Given the description of an element on the screen output the (x, y) to click on. 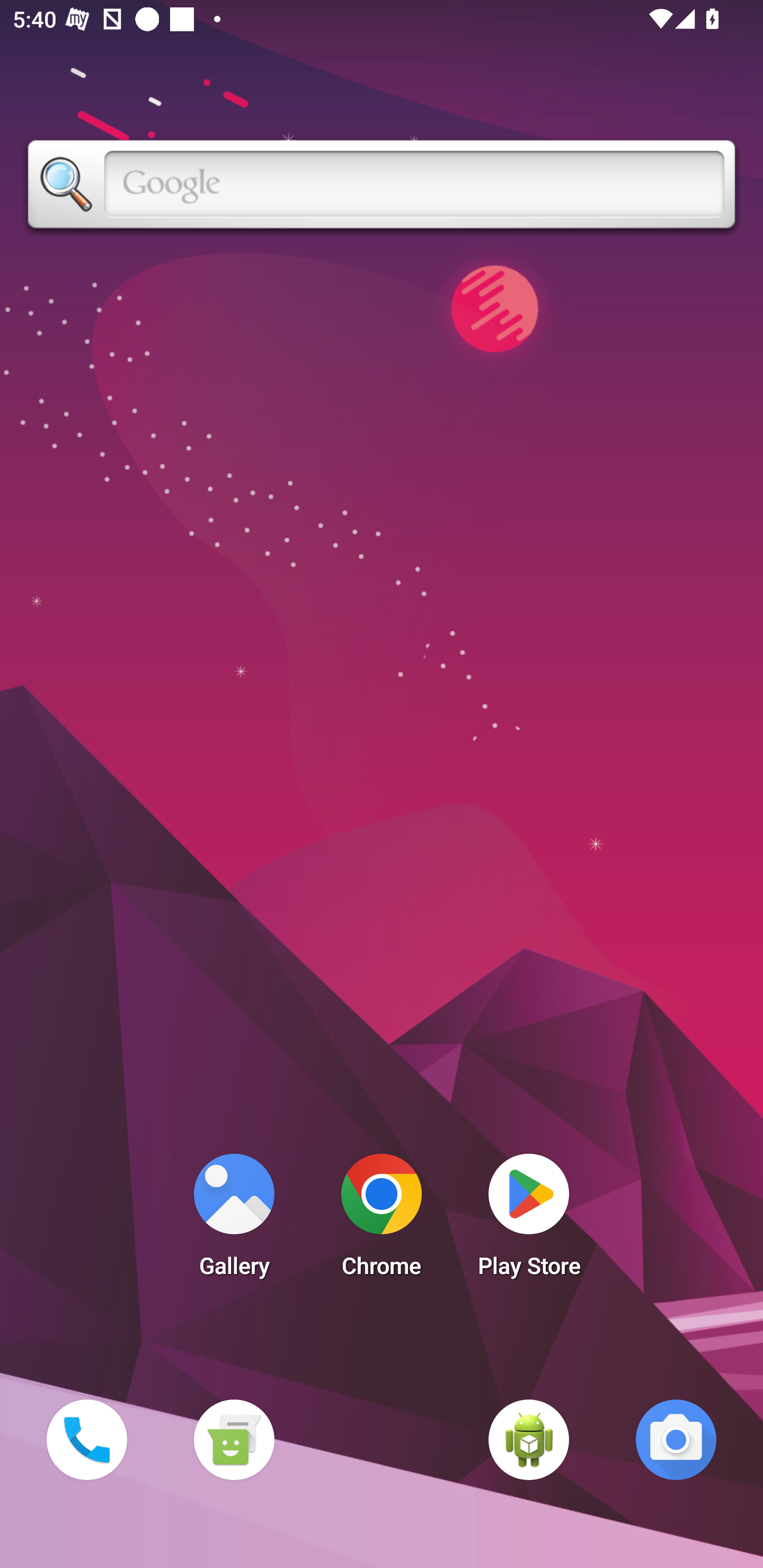
Gallery (233, 1220)
Chrome (381, 1220)
Play Store (528, 1220)
Phone (86, 1439)
Messaging (233, 1439)
WebView Browser Tester (528, 1439)
Camera (676, 1439)
